Given the description of an element on the screen output the (x, y) to click on. 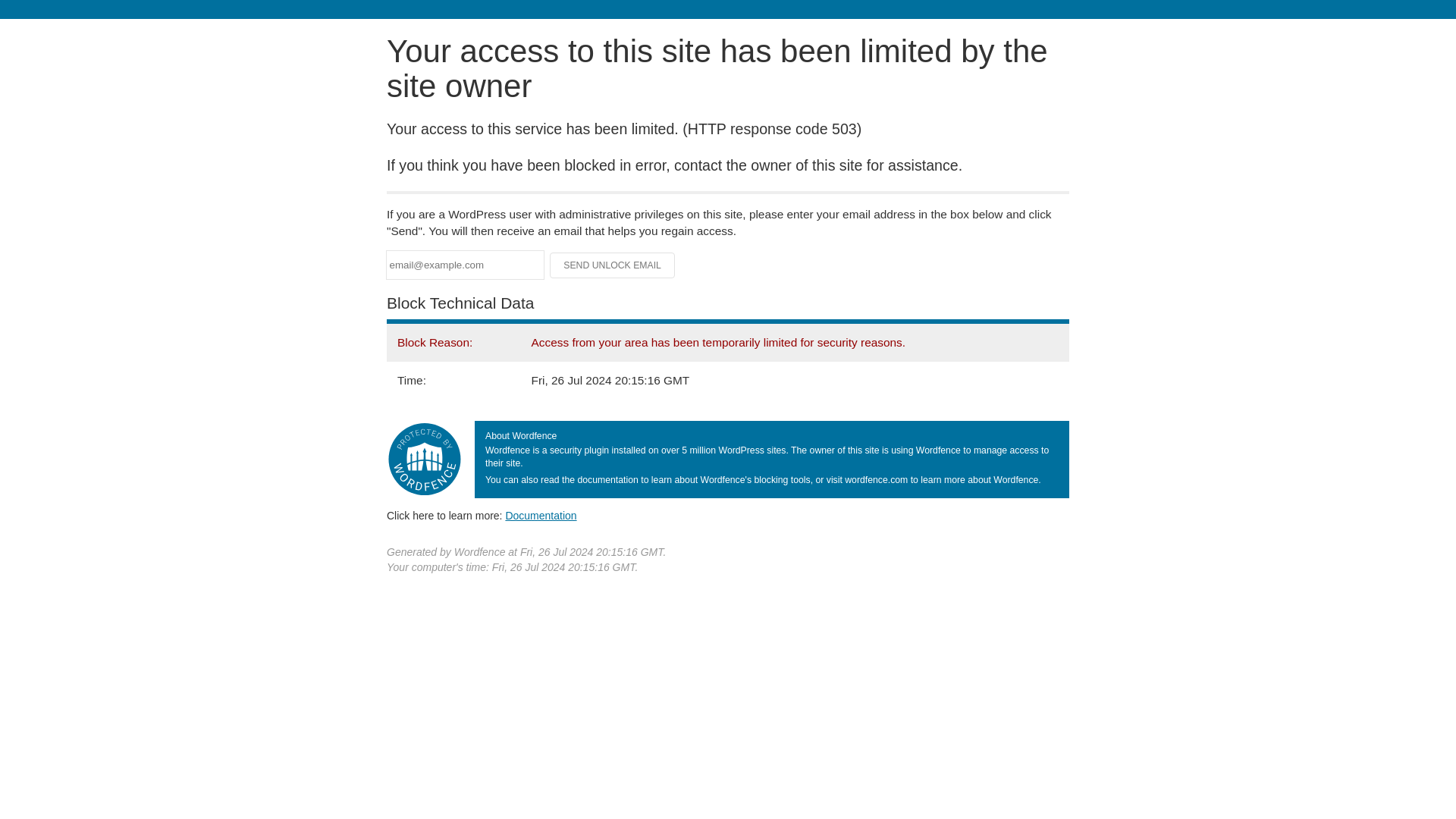
Documentation (540, 515)
Send Unlock Email (612, 265)
Send Unlock Email (612, 265)
